Given the description of an element on the screen output the (x, y) to click on. 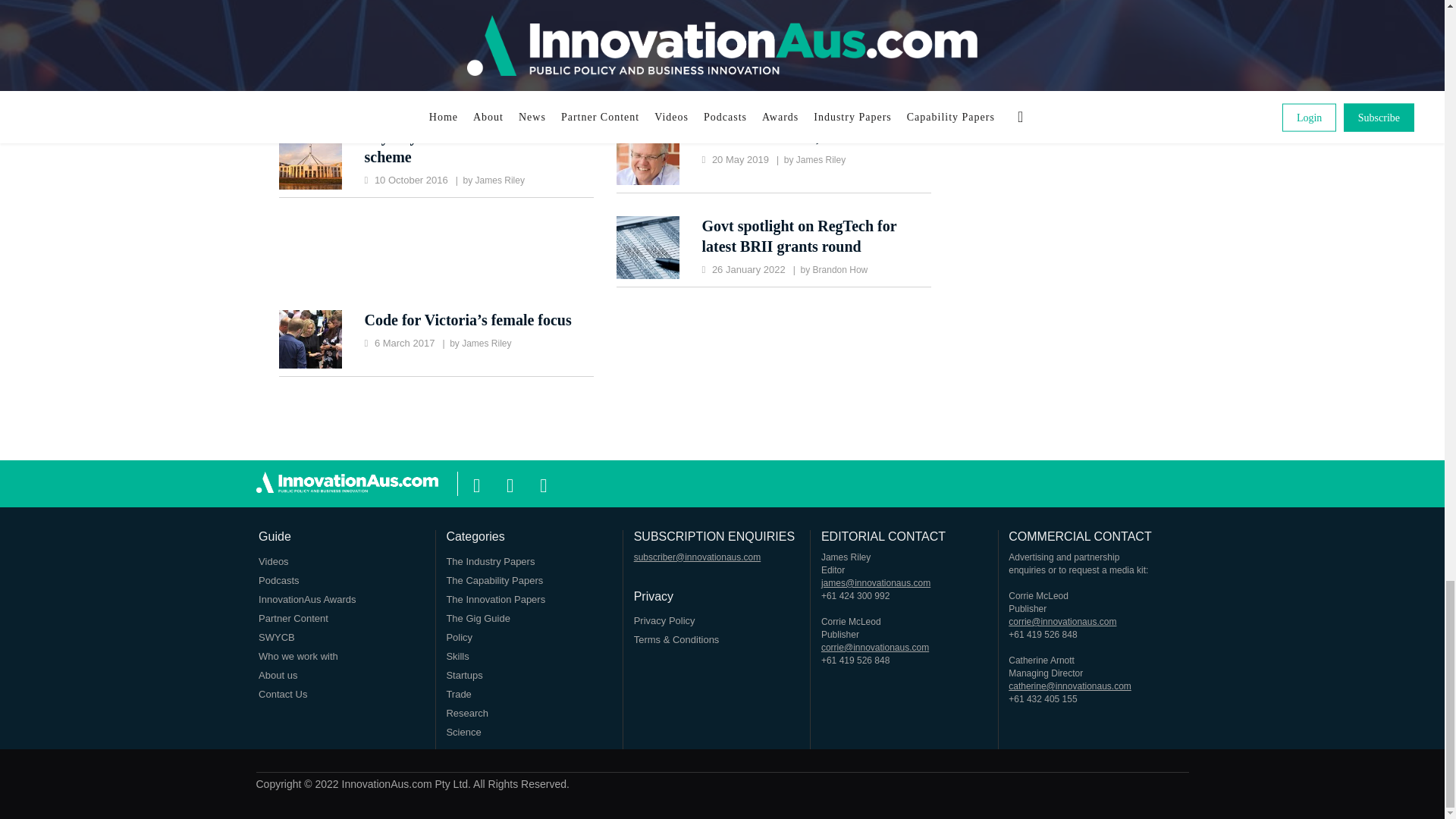
ion-social-linkedin (543, 482)
ion-social-twitter (510, 482)
ion-social-facebook (476, 482)
next post (779, 5)
